Given the description of an element on the screen output the (x, y) to click on. 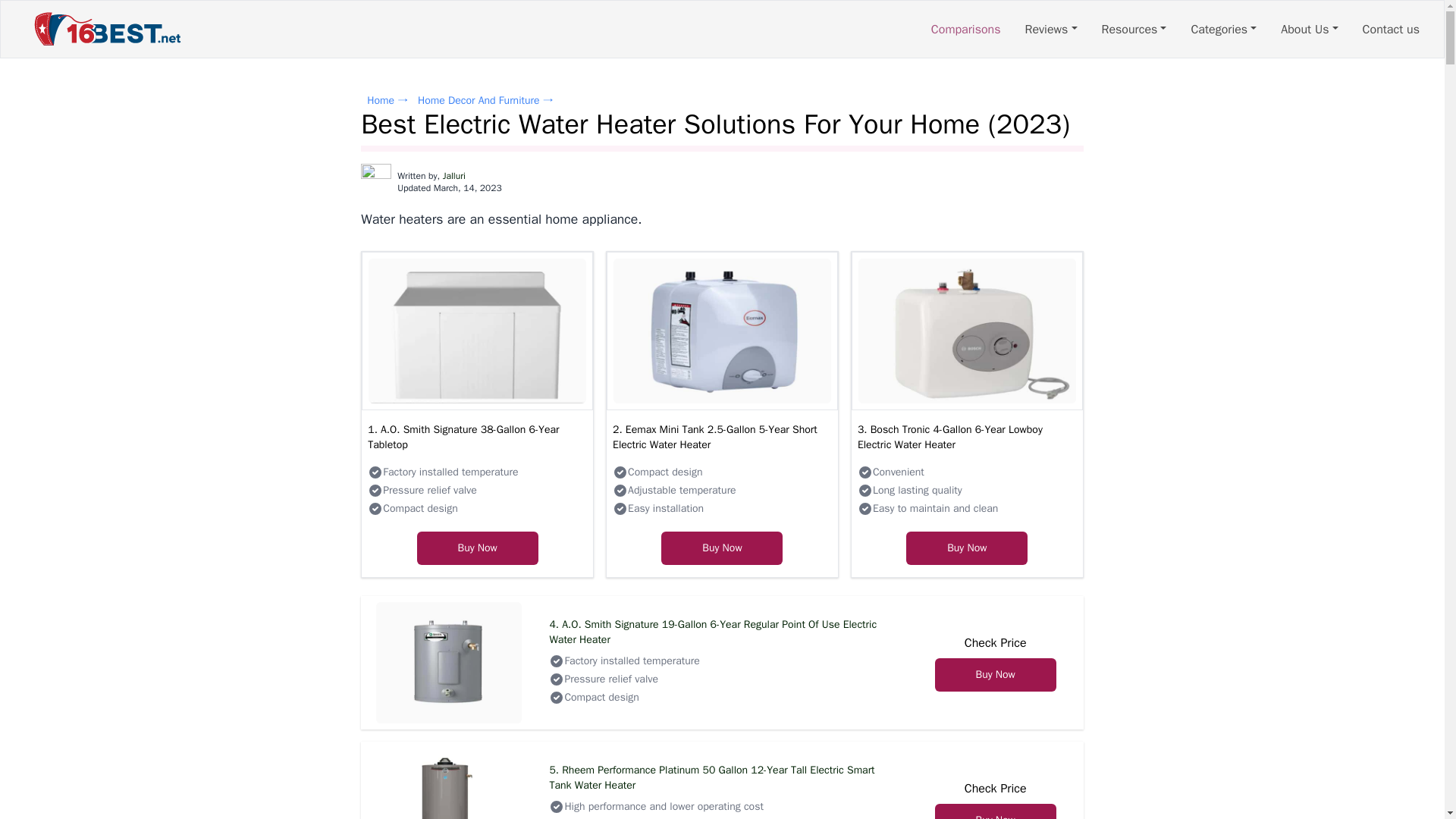
Buy Now (966, 548)
Buy Now (995, 674)
Reviews (1051, 28)
Buy Now (477, 547)
Buy Now (966, 547)
Contact us (1390, 28)
About Us (1309, 28)
Buy Now (995, 673)
Reviews (1051, 28)
Jalluri (453, 175)
